Given the description of an element on the screen output the (x, y) to click on. 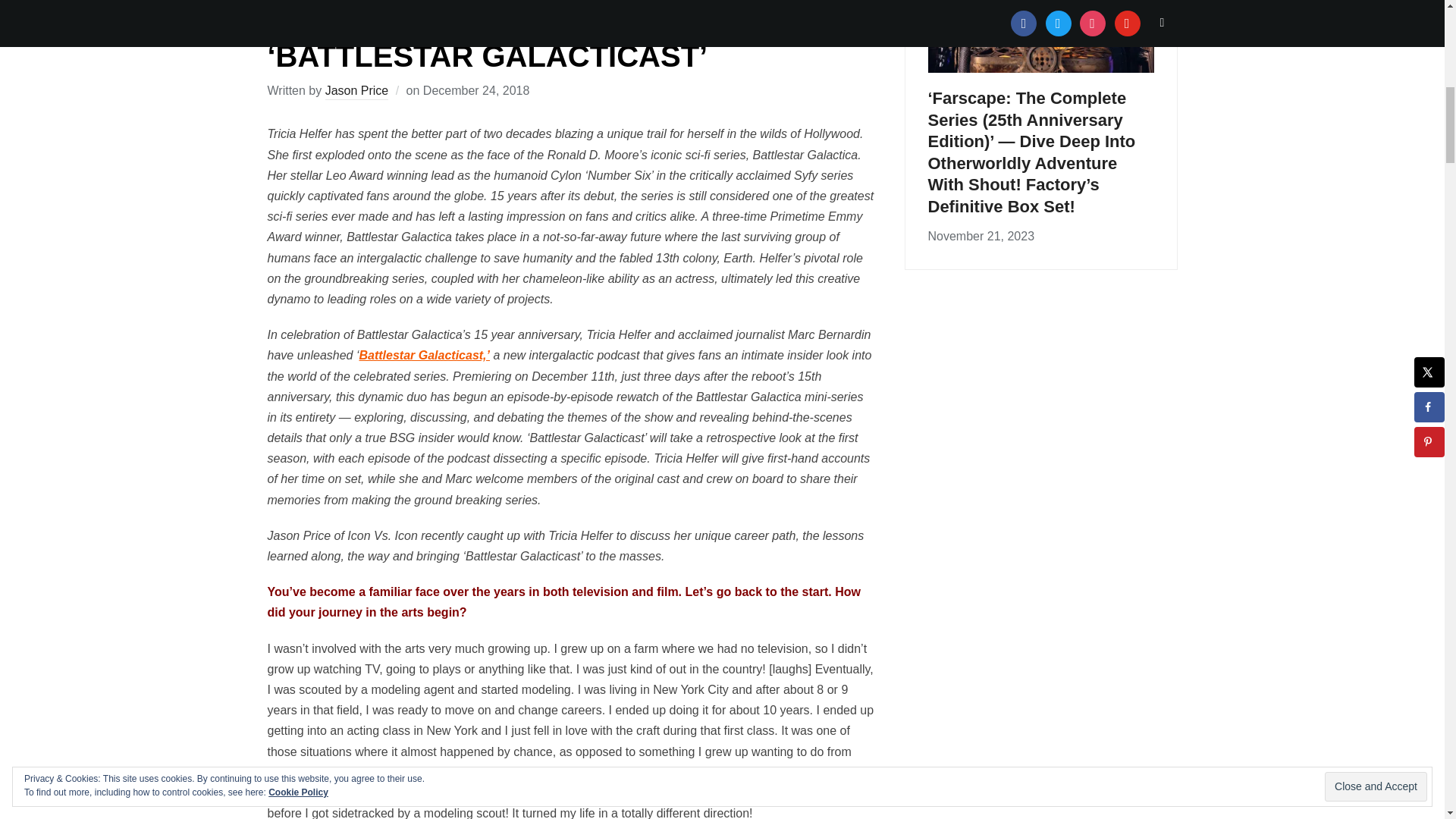
Jason Price (356, 91)
Posts by Jason Price (356, 91)
